Given the description of an element on the screen output the (x, y) to click on. 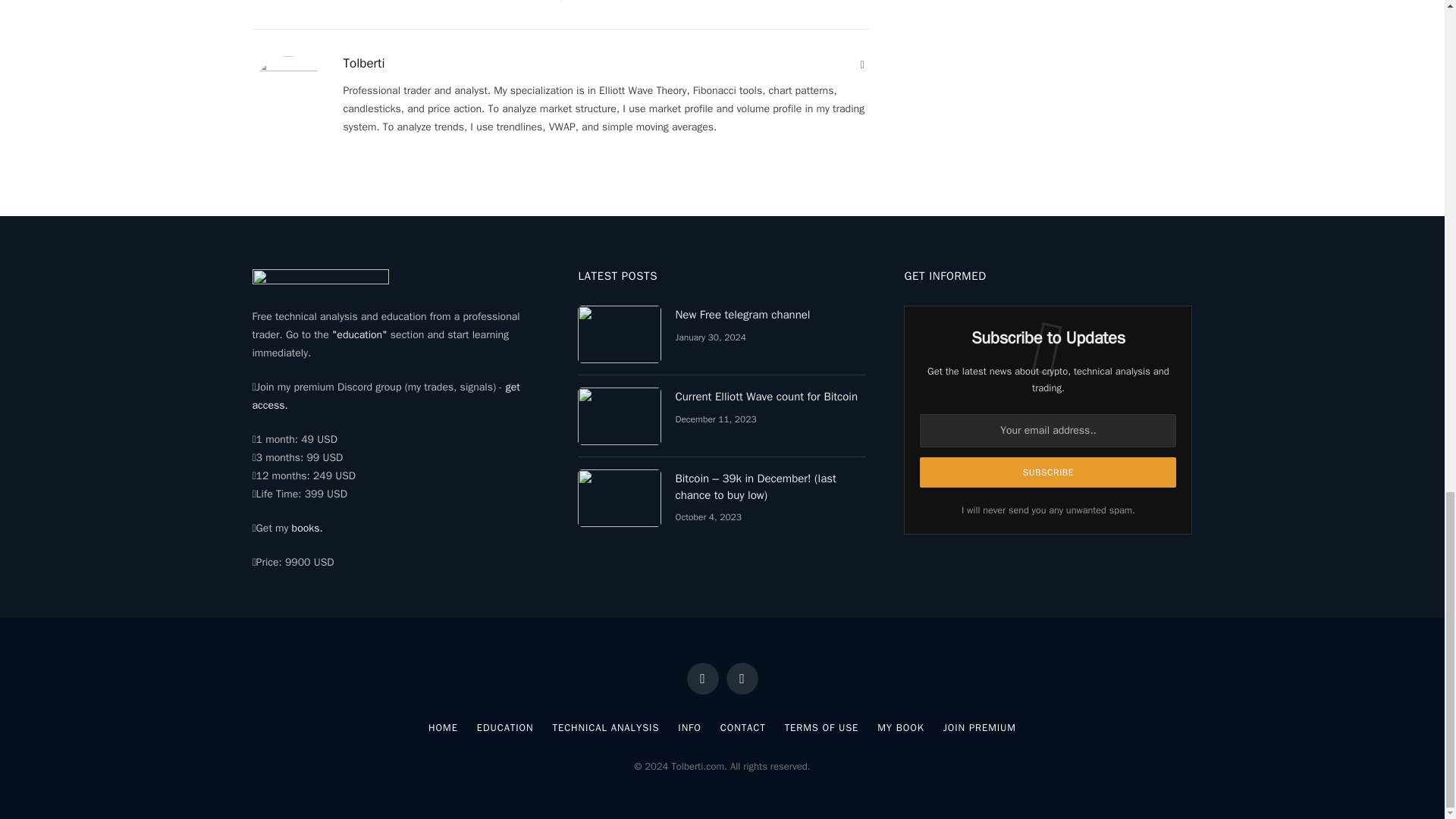
Subscribe (1048, 472)
